Given the description of an element on the screen output the (x, y) to click on. 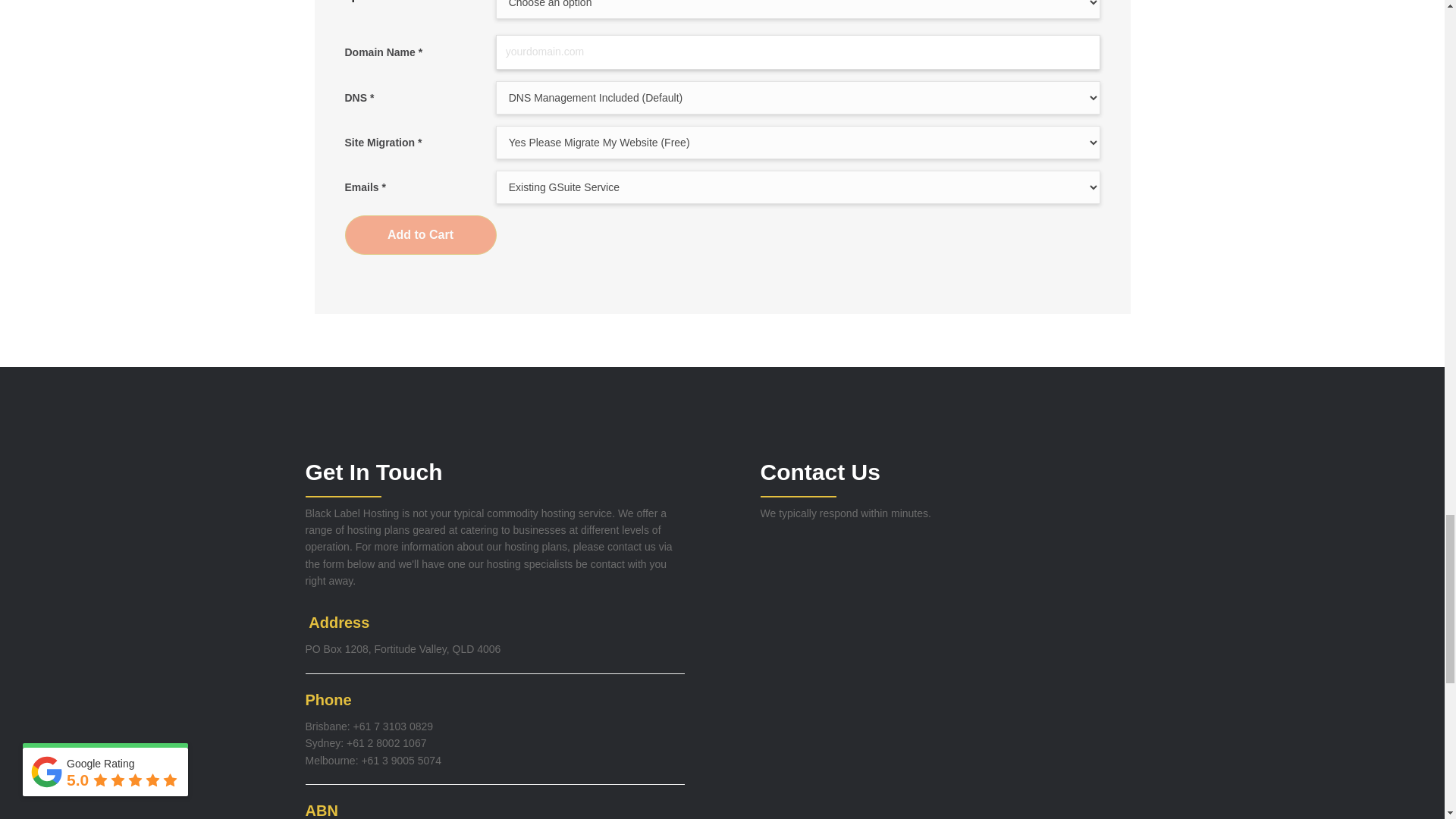
Add to Cart (419, 234)
